Given the description of an element on the screen output the (x, y) to click on. 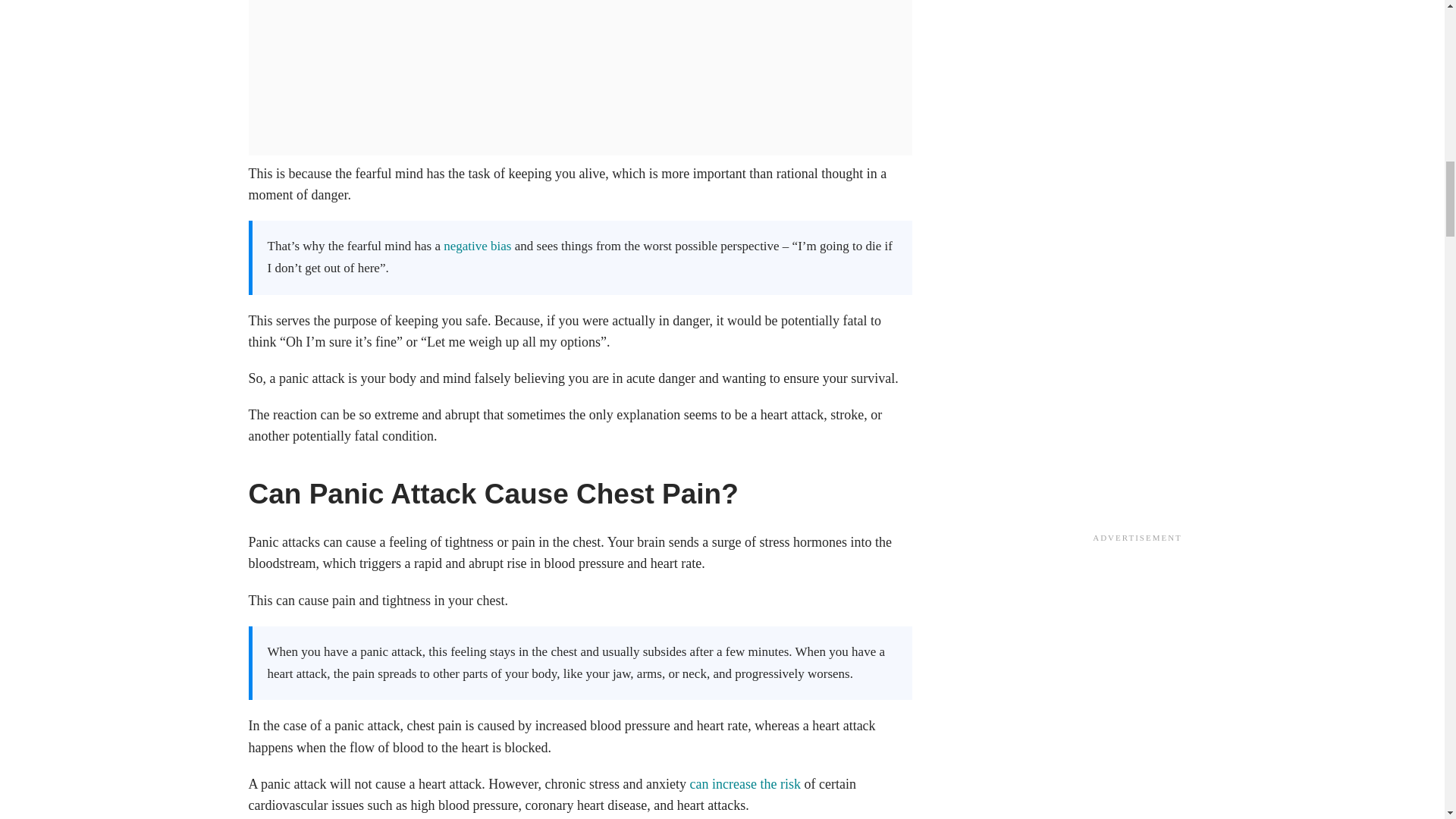
can increase the risk (742, 783)
negative bias (477, 246)
